Given the description of an element on the screen output the (x, y) to click on. 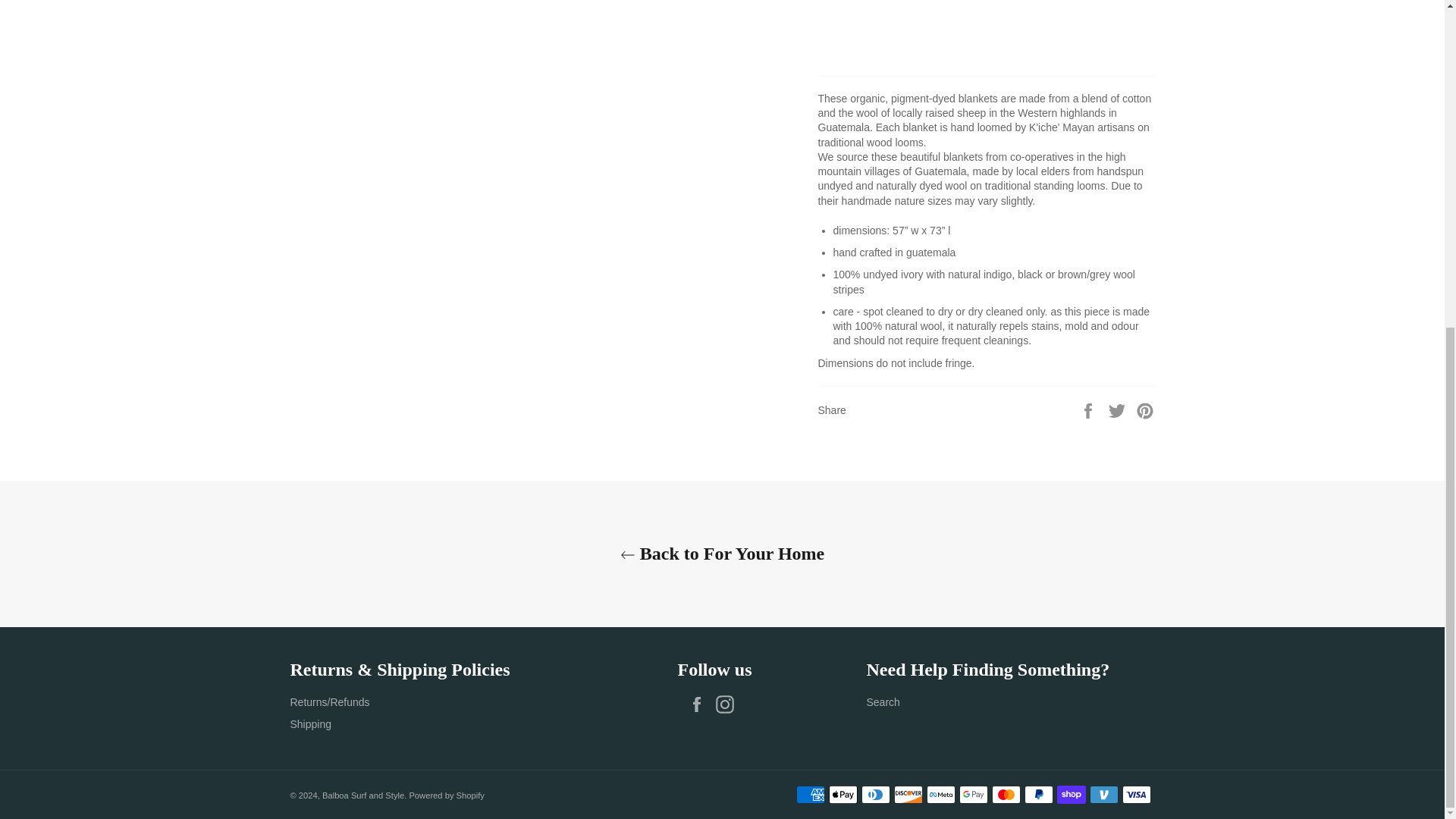
Tweet on Twitter (1118, 409)
Share on Facebook (1089, 409)
Balboa Surf and Style on Facebook (700, 704)
Balboa Surf and Style on Instagram (728, 704)
Pin on Pinterest (1144, 409)
